Given the description of an element on the screen output the (x, y) to click on. 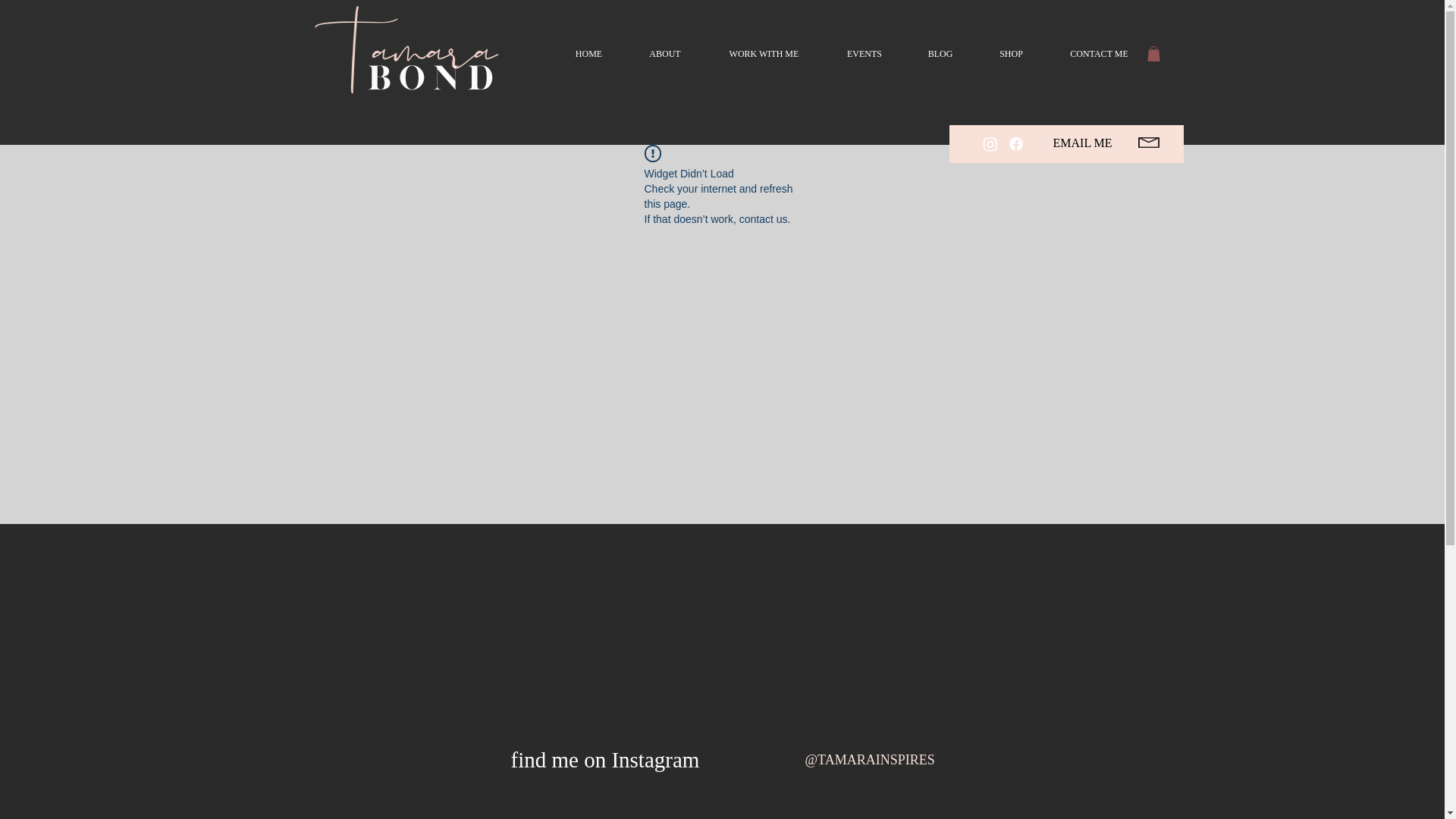
WORK WITH ME (763, 53)
HOME (588, 53)
BLOG (940, 53)
CONTACT ME (1098, 53)
! (653, 153)
ABOUT (665, 53)
EVENTS (864, 53)
EMAIL ME (1082, 142)
SHOP (1010, 53)
